Given the description of an element on the screen output the (x, y) to click on. 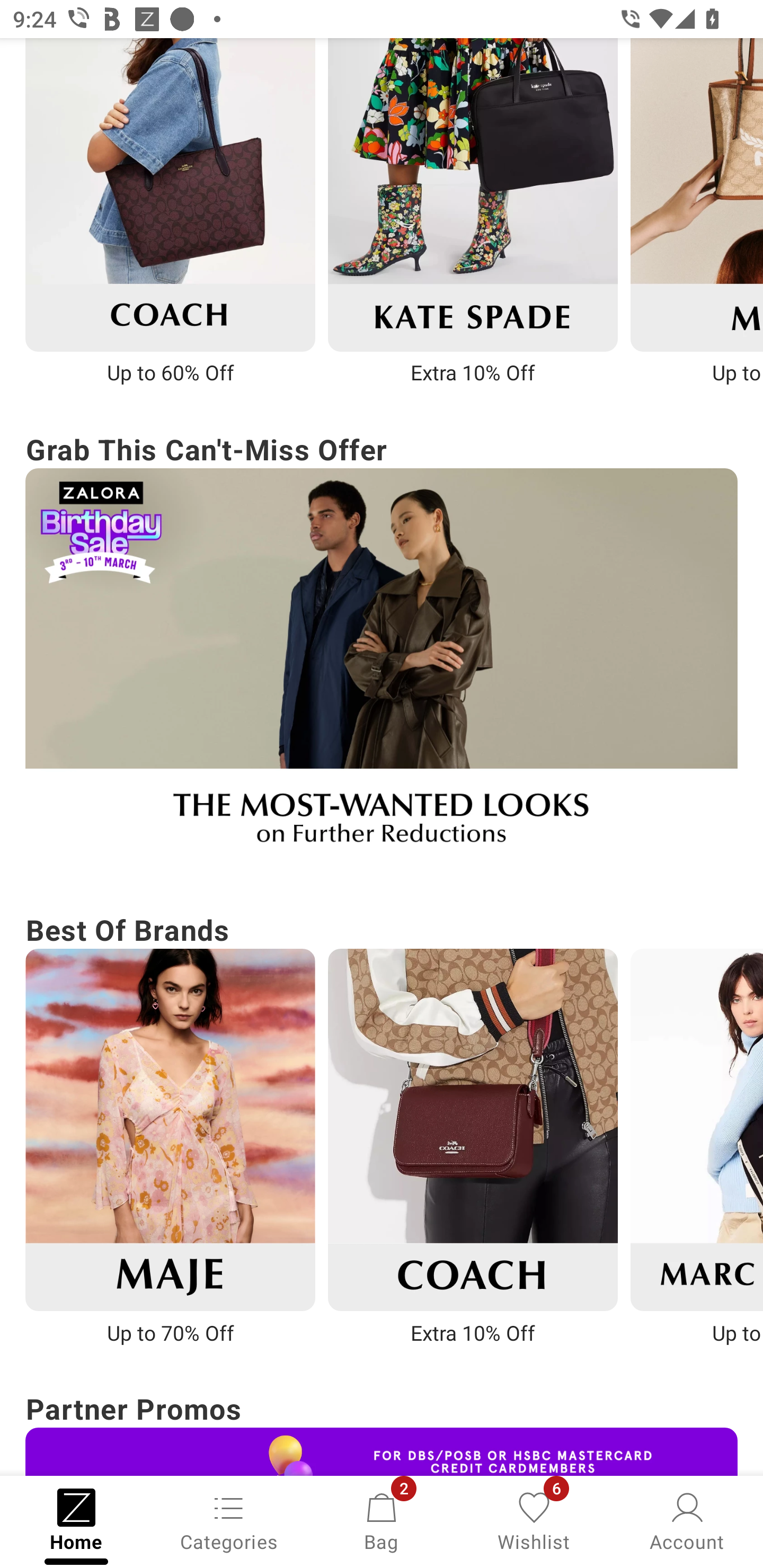
Campaign banner (170, 194)
Campaign banner (473, 194)
Grab This Can't-Miss Offer Campaign banner (381, 647)
Campaign banner (381, 668)
Campaign banner (170, 1129)
Campaign banner (473, 1129)
Partner Promos Campaign banner (381, 1430)
Campaign banner (381, 1450)
Categories (228, 1519)
Bag, 2 new notifications Bag (381, 1519)
Wishlist, 6 new notifications Wishlist (533, 1519)
Account (686, 1519)
